Given the description of an element on the screen output the (x, y) to click on. 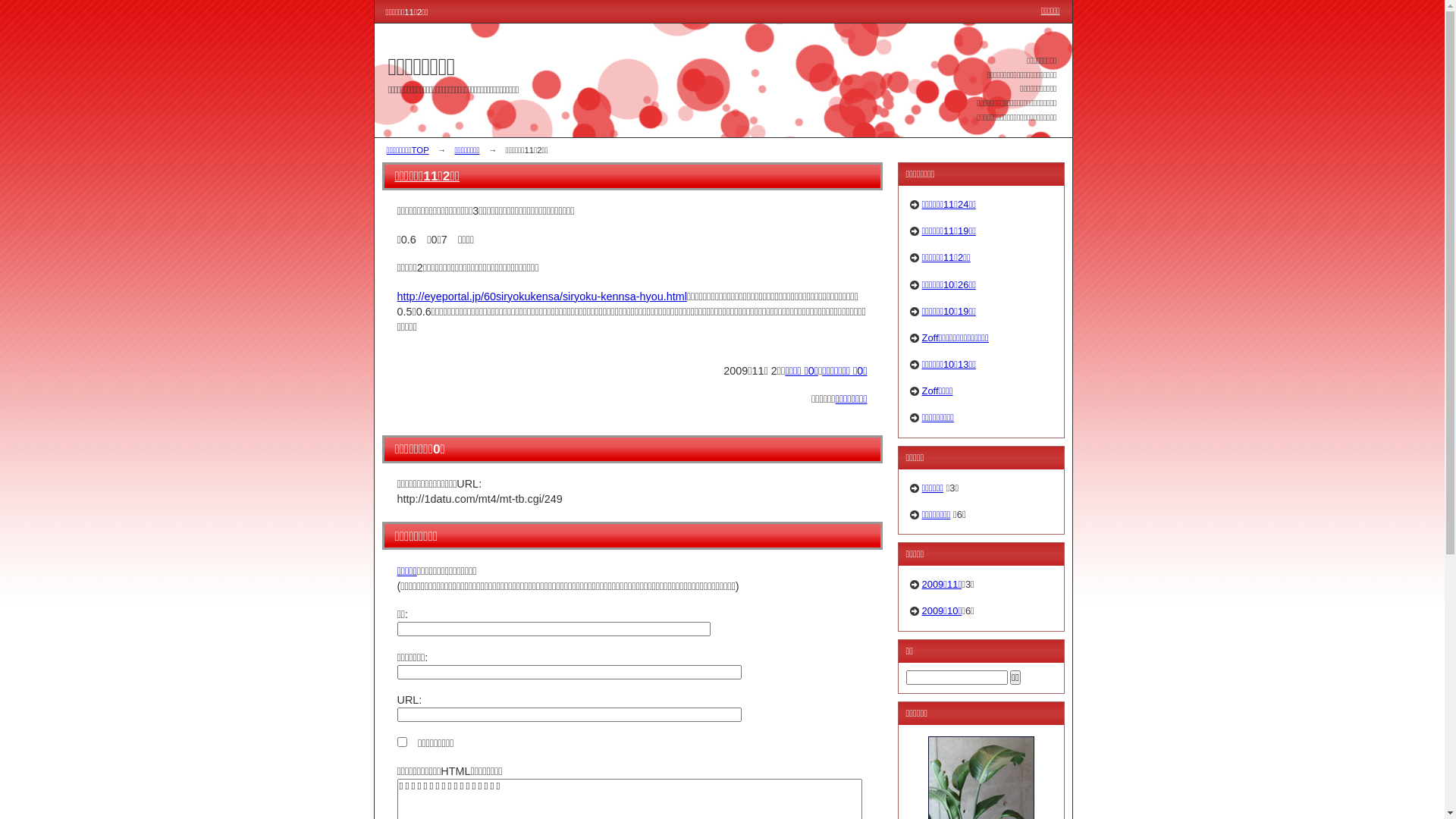
http://eyeportal.jp/60siryokukensa/siryoku-kennsa-hyou.html Element type: text (542, 296)
1 Element type: text (402, 741)
